Given the description of an element on the screen output the (x, y) to click on. 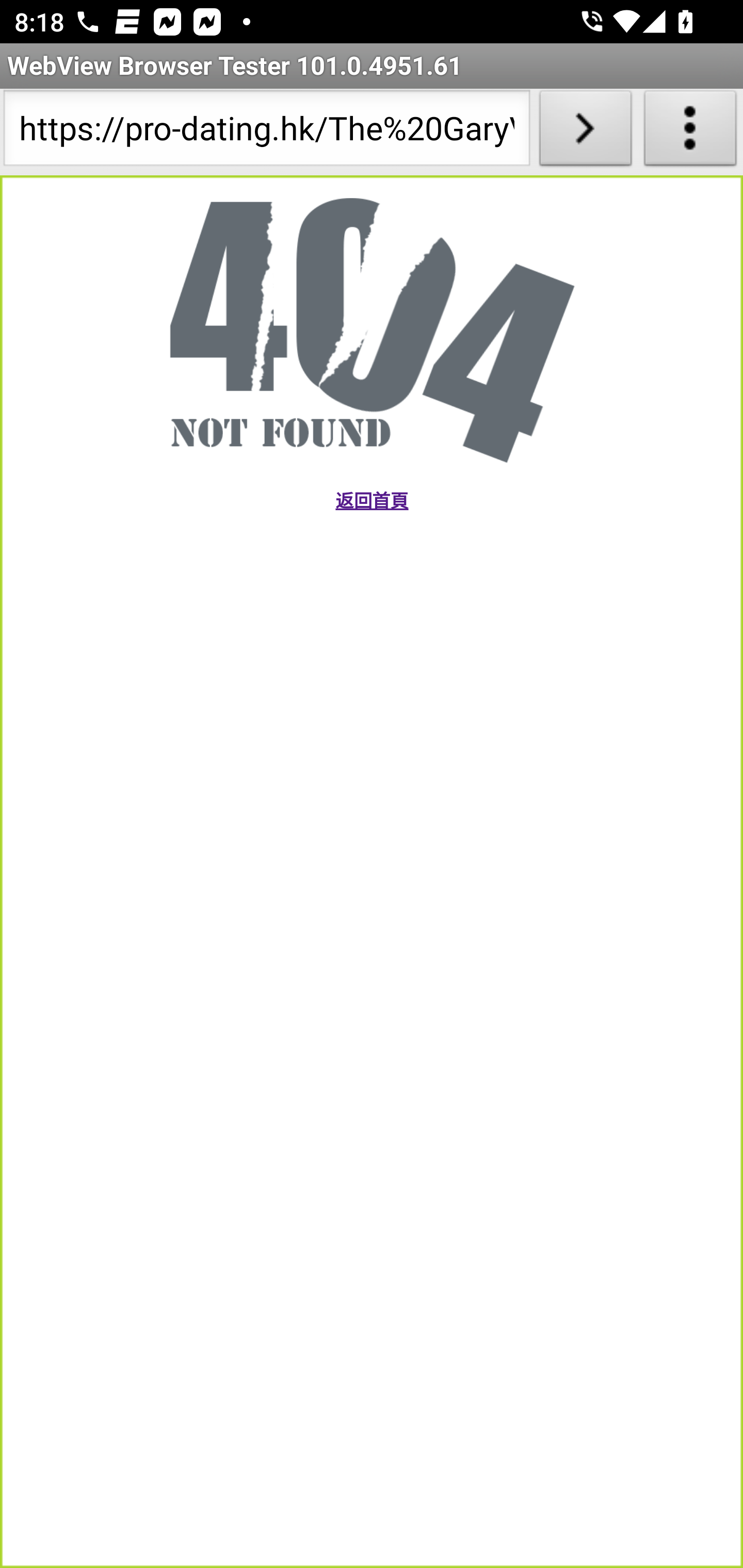
Load URL (585, 132)
About WebView (690, 132)
返回首頁 (370, 500)
